Given the description of an element on the screen output the (x, y) to click on. 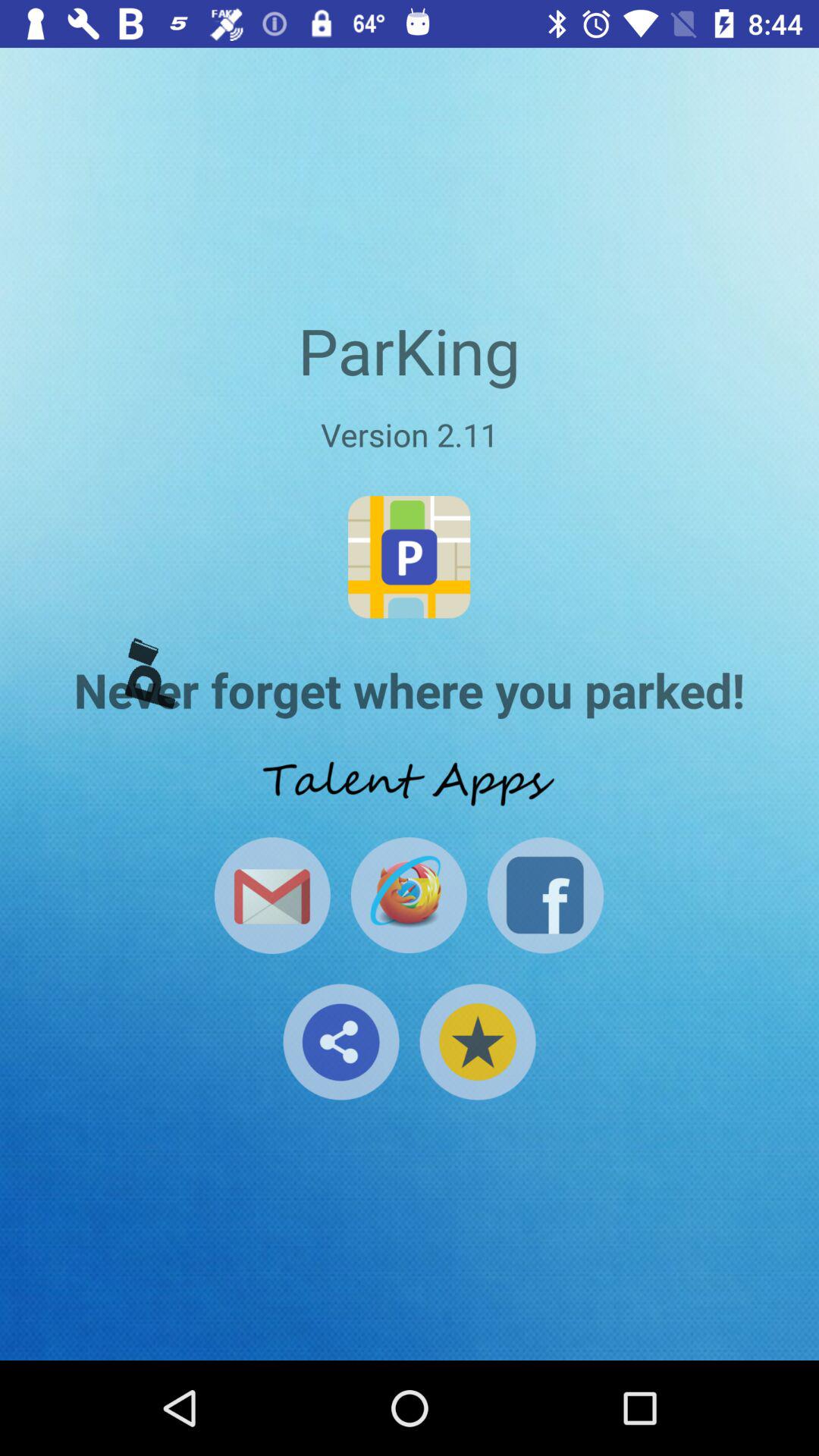
go to gmail (272, 895)
